Given the description of an element on the screen output the (x, y) to click on. 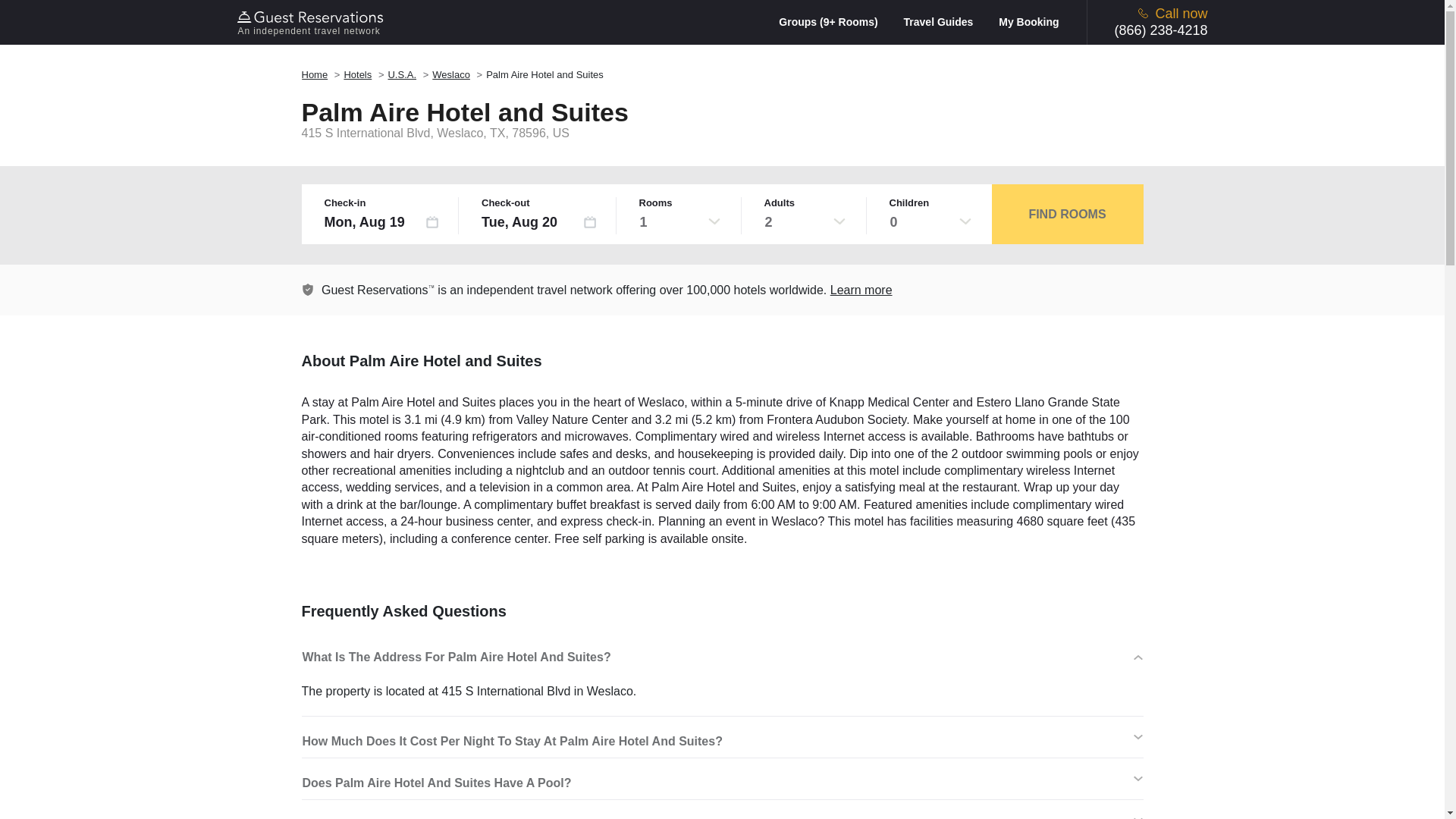
My Booking (1028, 21)
Travel Guides (949, 21)
Mon, Aug 19 (381, 221)
1 (679, 221)
My Booking (1028, 21)
U.S.A. (401, 74)
call (1143, 13)
Hotels (357, 74)
An independent travel network (311, 22)
Home (315, 74)
